Given the description of an element on the screen output the (x, y) to click on. 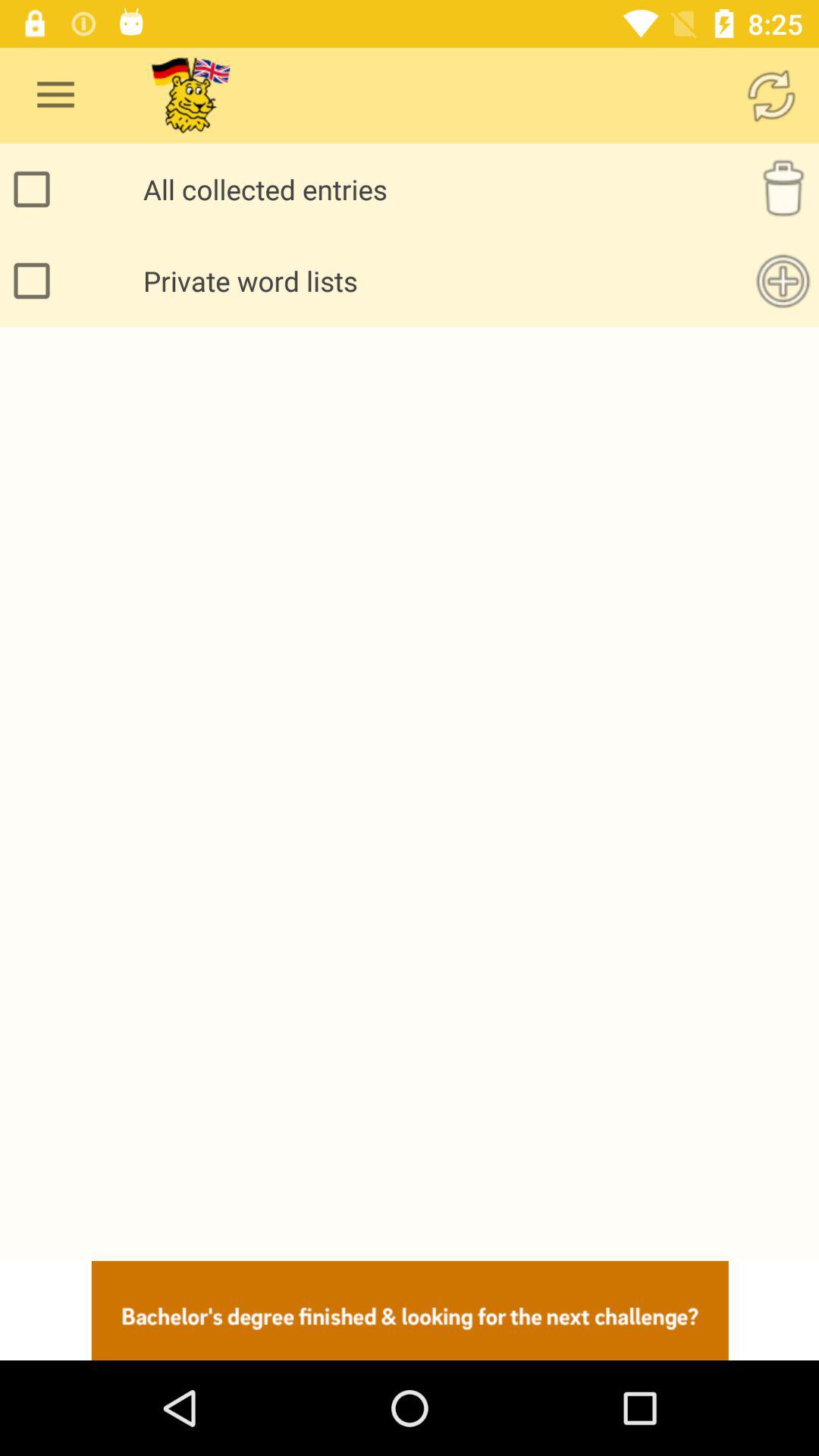
toggle private word lists (35, 280)
